Given the description of an element on the screen output the (x, y) to click on. 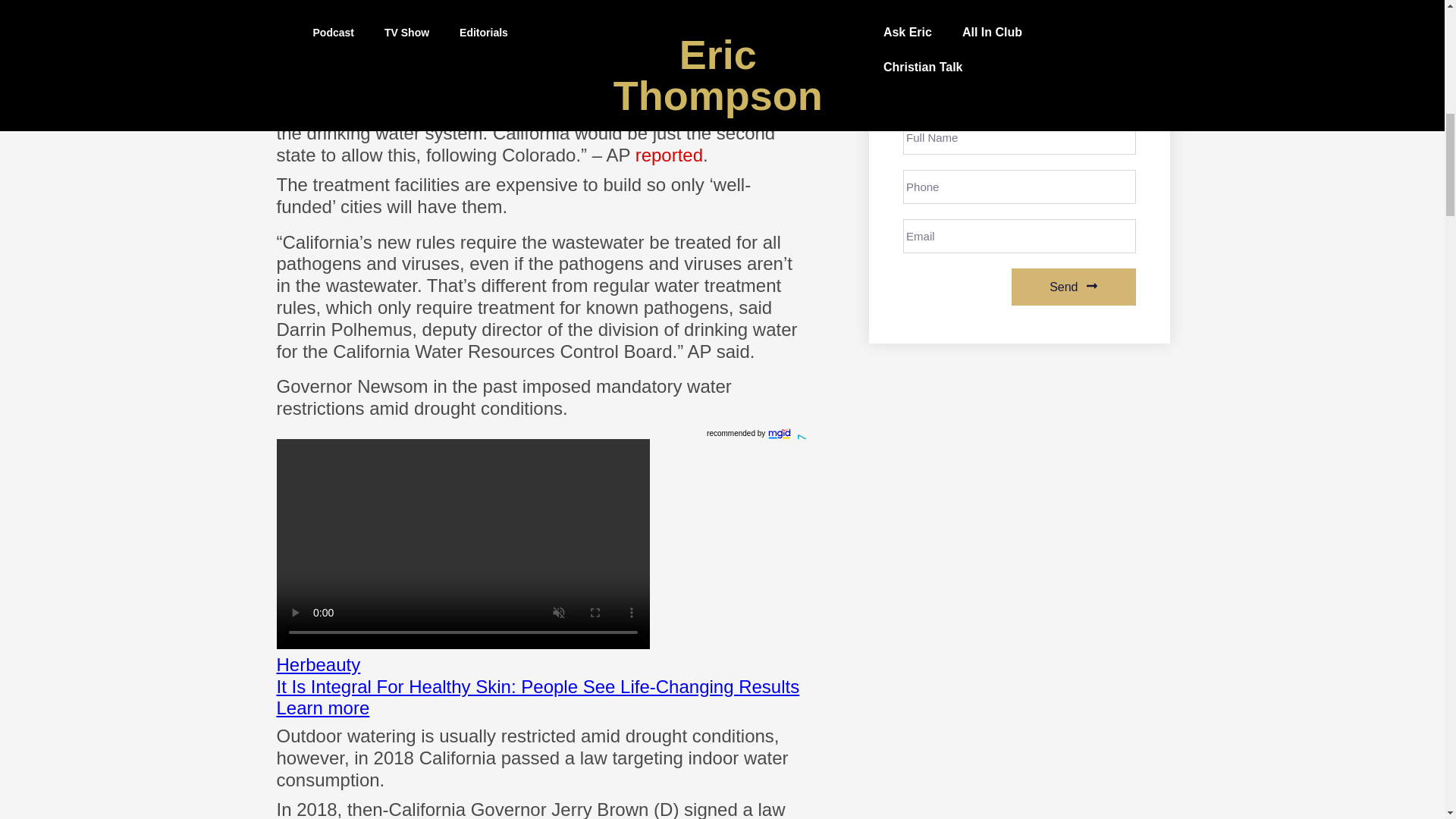
Advertisement (541, 36)
